Given the description of an element on the screen output the (x, y) to click on. 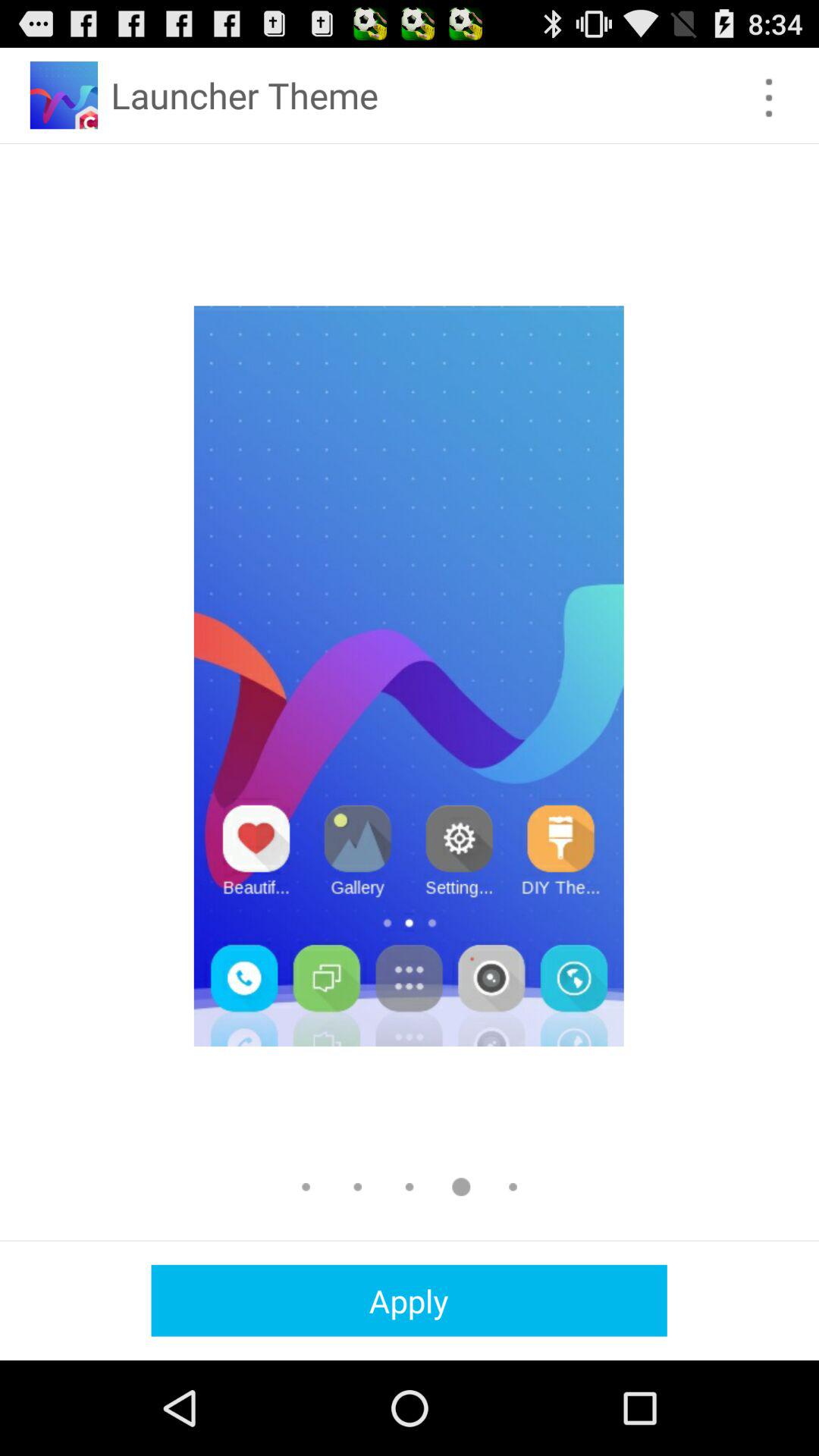
go to menu (768, 97)
